Given the description of an element on the screen output the (x, y) to click on. 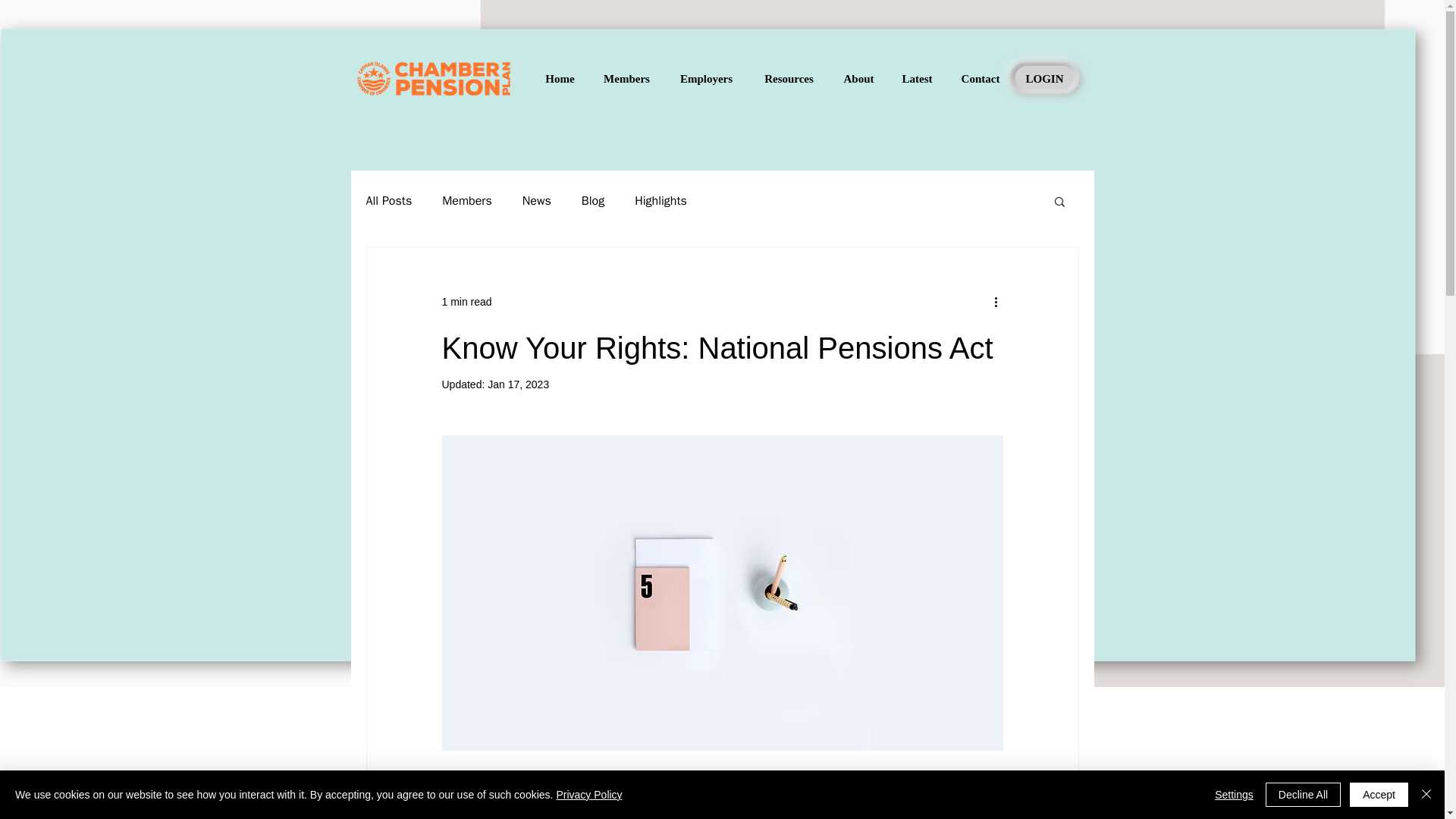
LOGIN (1043, 78)
Jan 17, 2023 (517, 384)
1 min read (466, 301)
Employers (705, 78)
About (857, 78)
Members (467, 200)
Latest (916, 78)
Home (559, 78)
Blog (592, 200)
Members (625, 78)
